Given the description of an element on the screen output the (x, y) to click on. 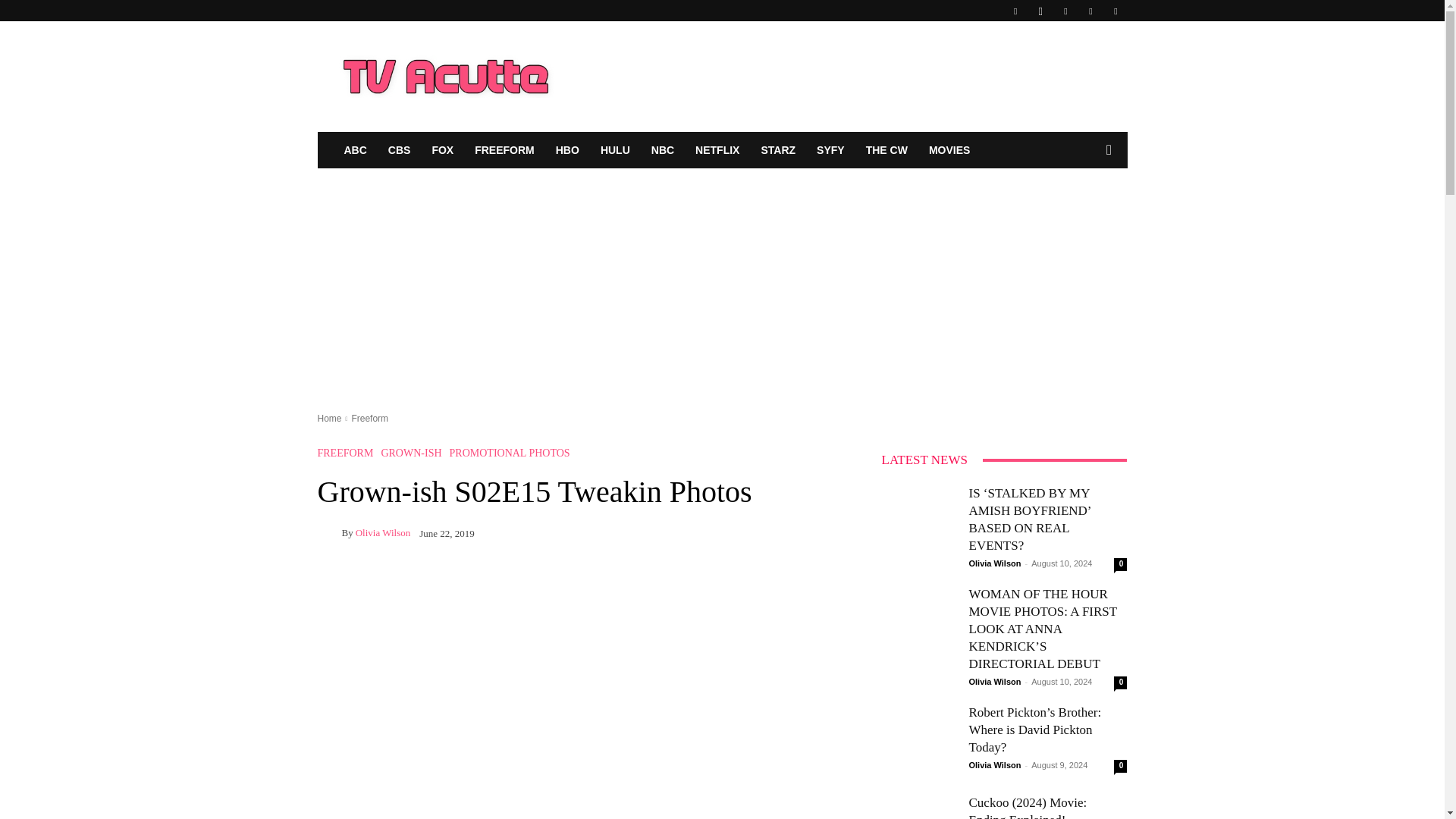
CBS (399, 149)
THE CW (887, 149)
Instagram (1040, 10)
View all posts in Freeform (369, 418)
Pinterest (1065, 10)
FOX (442, 149)
Facebook (1015, 10)
FREEFORM (504, 149)
NETFLIX (716, 149)
